Given the description of an element on the screen output the (x, y) to click on. 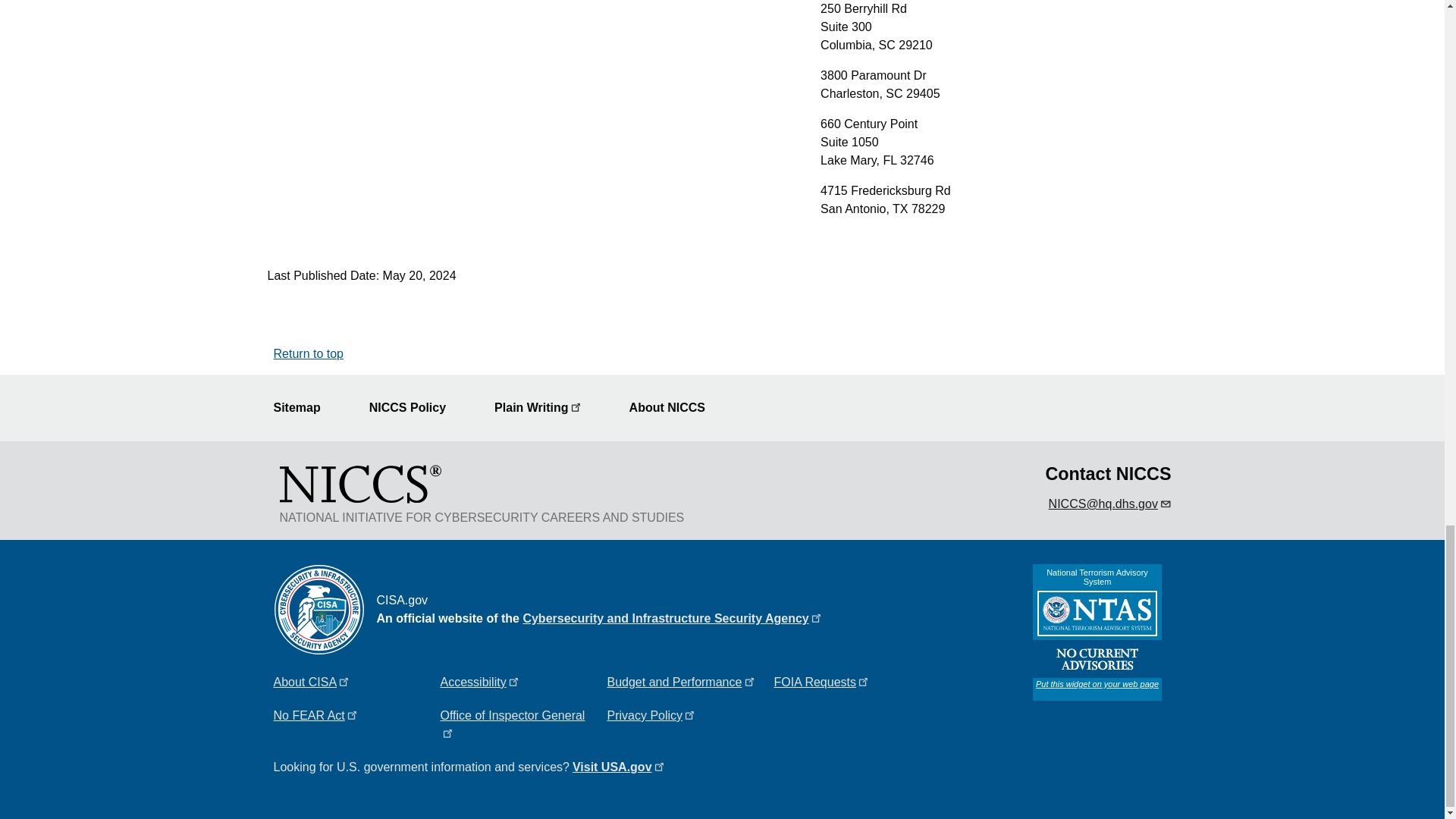
About NICCS (675, 408)
Sitemap (305, 408)
NICCS Policy (416, 408)
About NICCS (675, 408)
Return to top (308, 353)
Plain Writing (546, 408)
National Terrorism Advisory System (1096, 632)
Visit the USA.gov website (617, 767)
National Initiative for Cybersecurity Careers and Studies (360, 483)
NICCS Policy (416, 408)
Sitemap (305, 408)
